Given the description of an element on the screen output the (x, y) to click on. 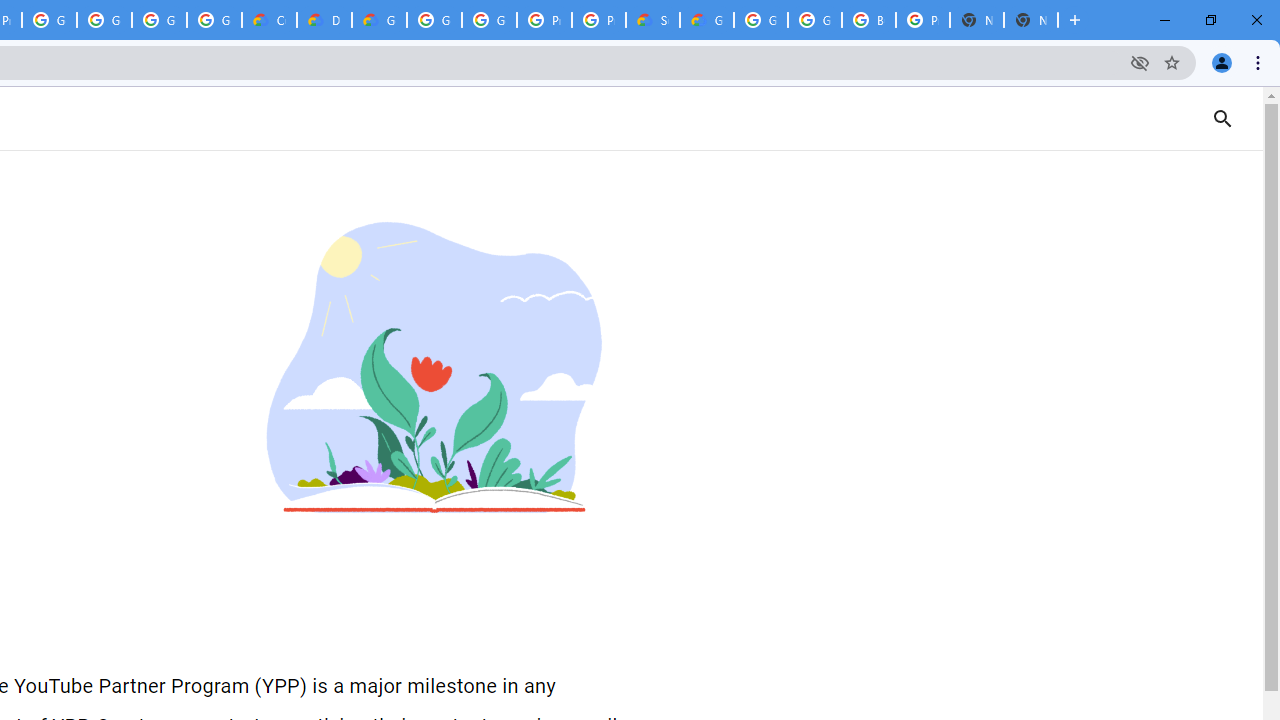
Google Cloud Platform (815, 20)
Gemini for Business and Developers | Google Cloud (379, 20)
Google Cloud Service Health (706, 20)
